Given the description of an element on the screen output the (x, y) to click on. 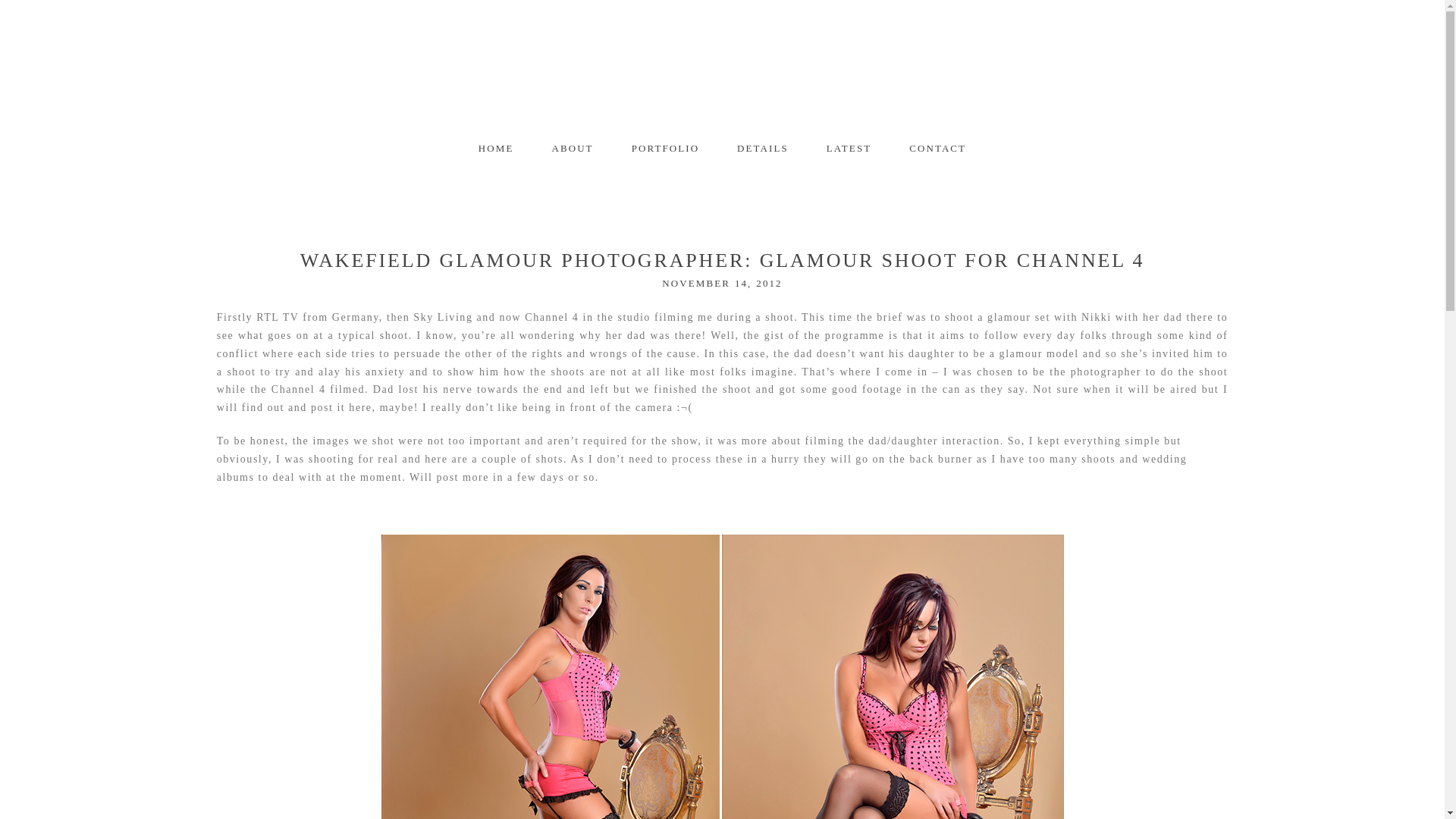
PORTFOLIO (664, 147)
DETAILS (762, 147)
CONTACT (937, 147)
LATEST (848, 147)
HOME (721, 66)
ABOUT (496, 147)
